Given the description of an element on the screen output the (x, y) to click on. 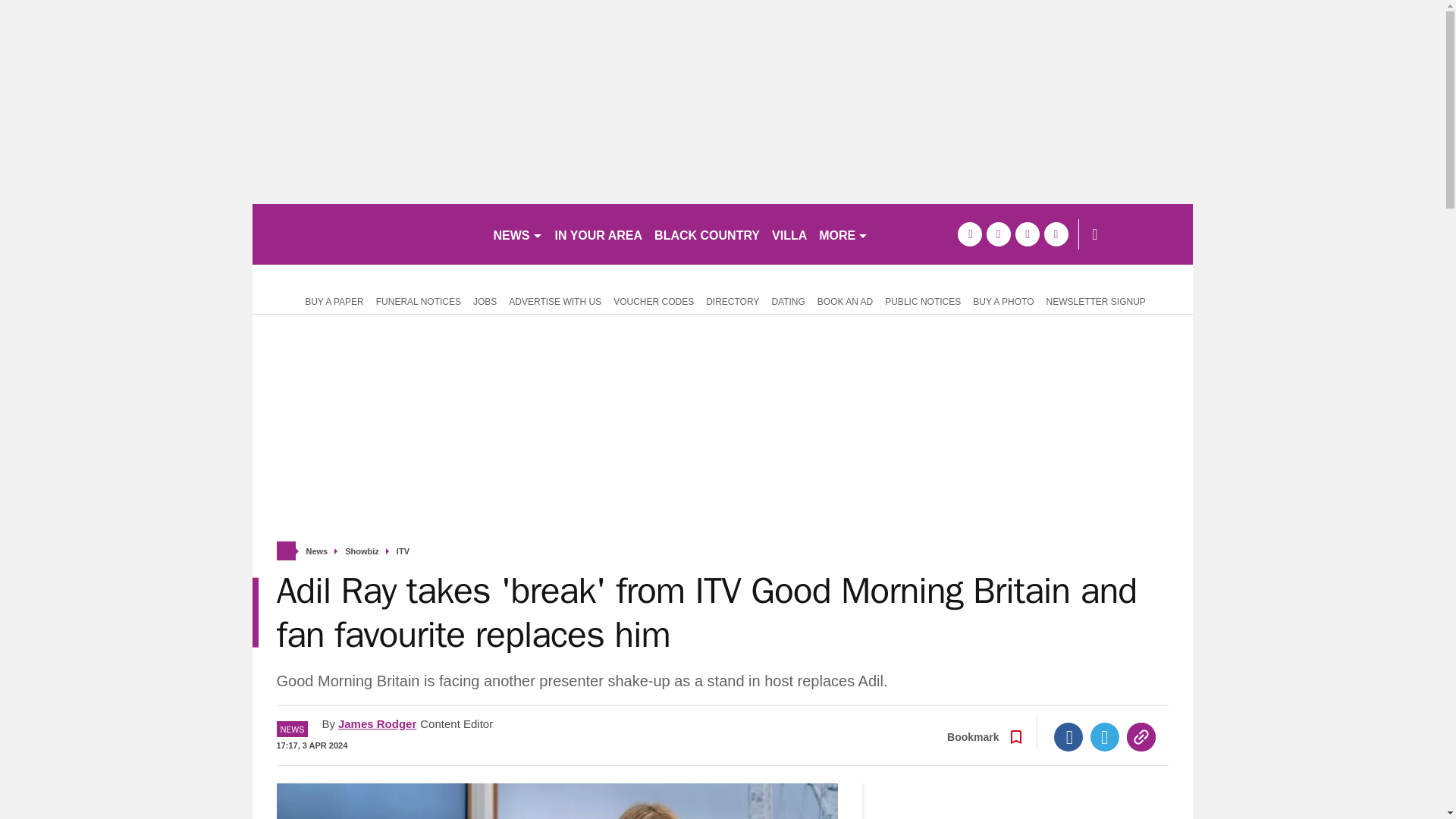
MORE (843, 233)
IN YOUR AREA (598, 233)
twitter (997, 233)
facebook (968, 233)
instagram (1055, 233)
birminghammail (365, 233)
Twitter (1104, 736)
BLACK COUNTRY (706, 233)
tiktok (1026, 233)
NEWS (517, 233)
